Given the description of an element on the screen output the (x, y) to click on. 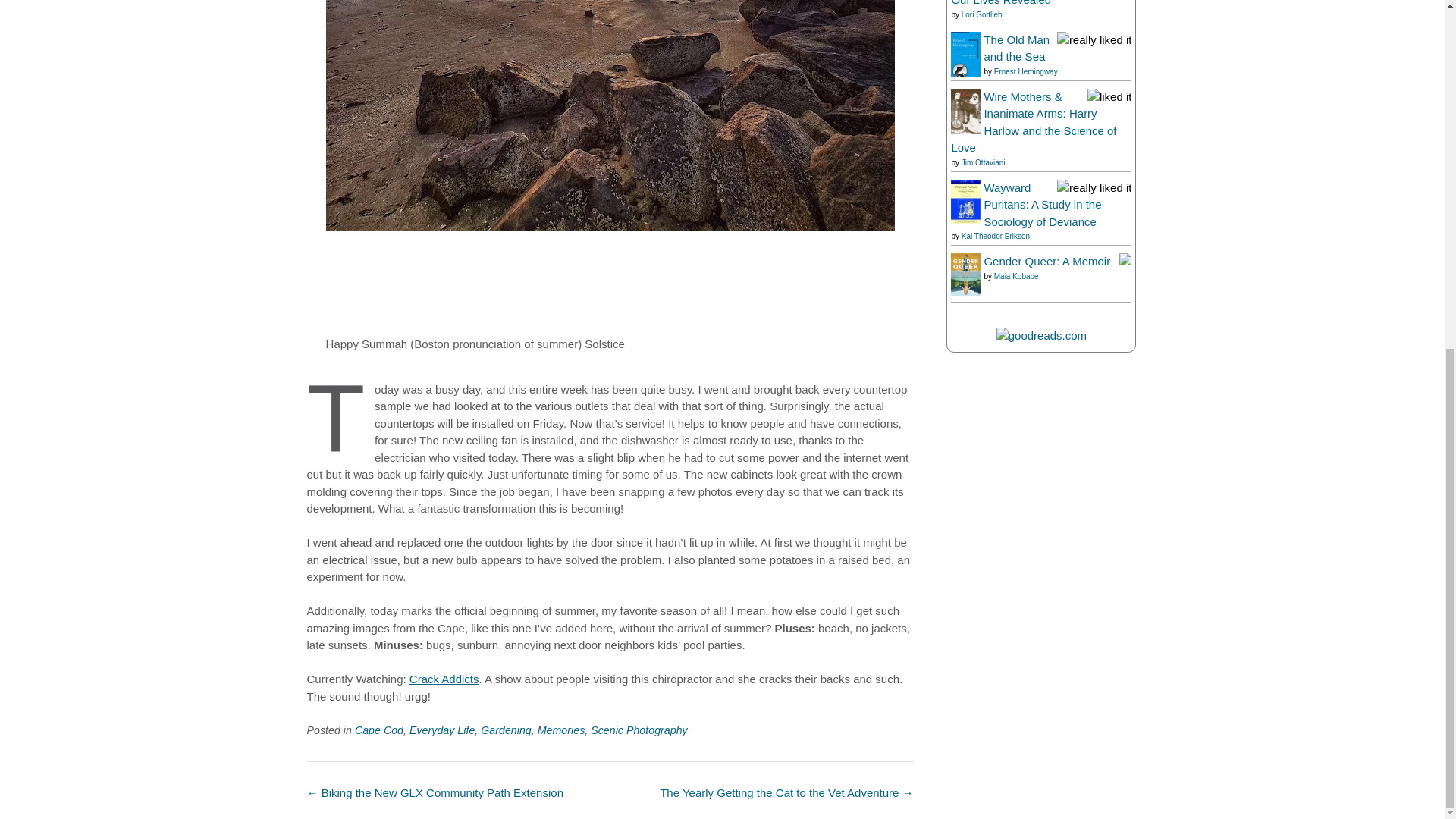
Wayward Puritans: A Study in the Sociology of Deviance (1042, 204)
The Old Man and the Sea (964, 72)
Scenic Photography (639, 729)
Lori Gottlieb (981, 13)
Jim Ottaviani (983, 162)
Gender Queer: A Memoir (1046, 260)
Wayward Puritans: A Study in the Sociology of Deviance (964, 219)
Gender Queer: A Memoir (964, 291)
Everyday Life (441, 729)
Maia Kobabe (1016, 275)
